Given the description of an element on the screen output the (x, y) to click on. 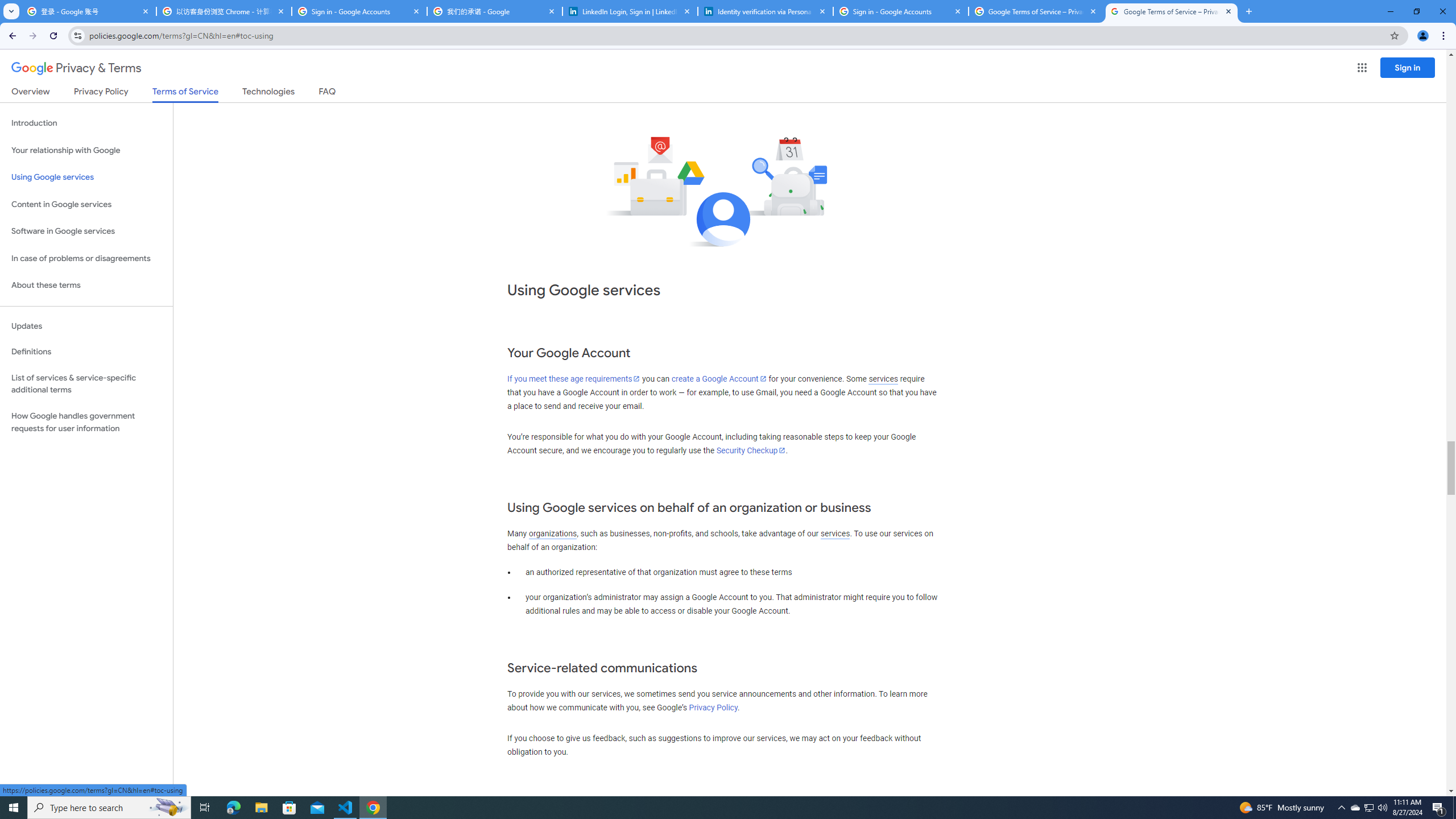
Software in Google services (86, 230)
organizations (552, 533)
Updates (86, 325)
